Given the description of an element on the screen output the (x, y) to click on. 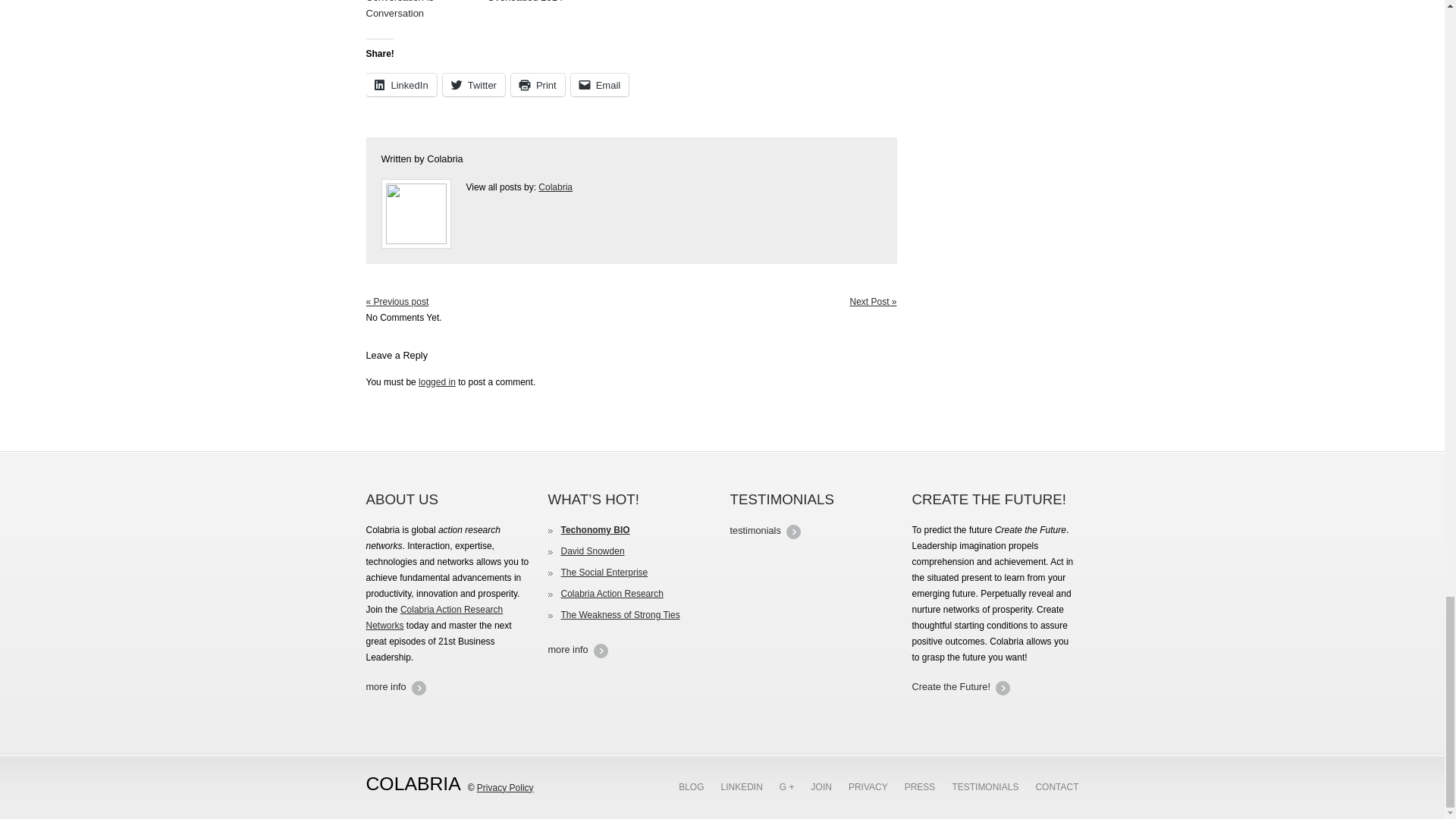
Overloaded 2014 (542, 2)
Colabria (444, 159)
Click to print (537, 84)
LinkedIn (400, 84)
Click to email a link to a friend (599, 84)
Conversation is Conversation (422, 11)
logged in (437, 381)
Click to share on Twitter (473, 84)
Email (599, 84)
Click to share on LinkedIn (400, 84)
